Given the description of an element on the screen output the (x, y) to click on. 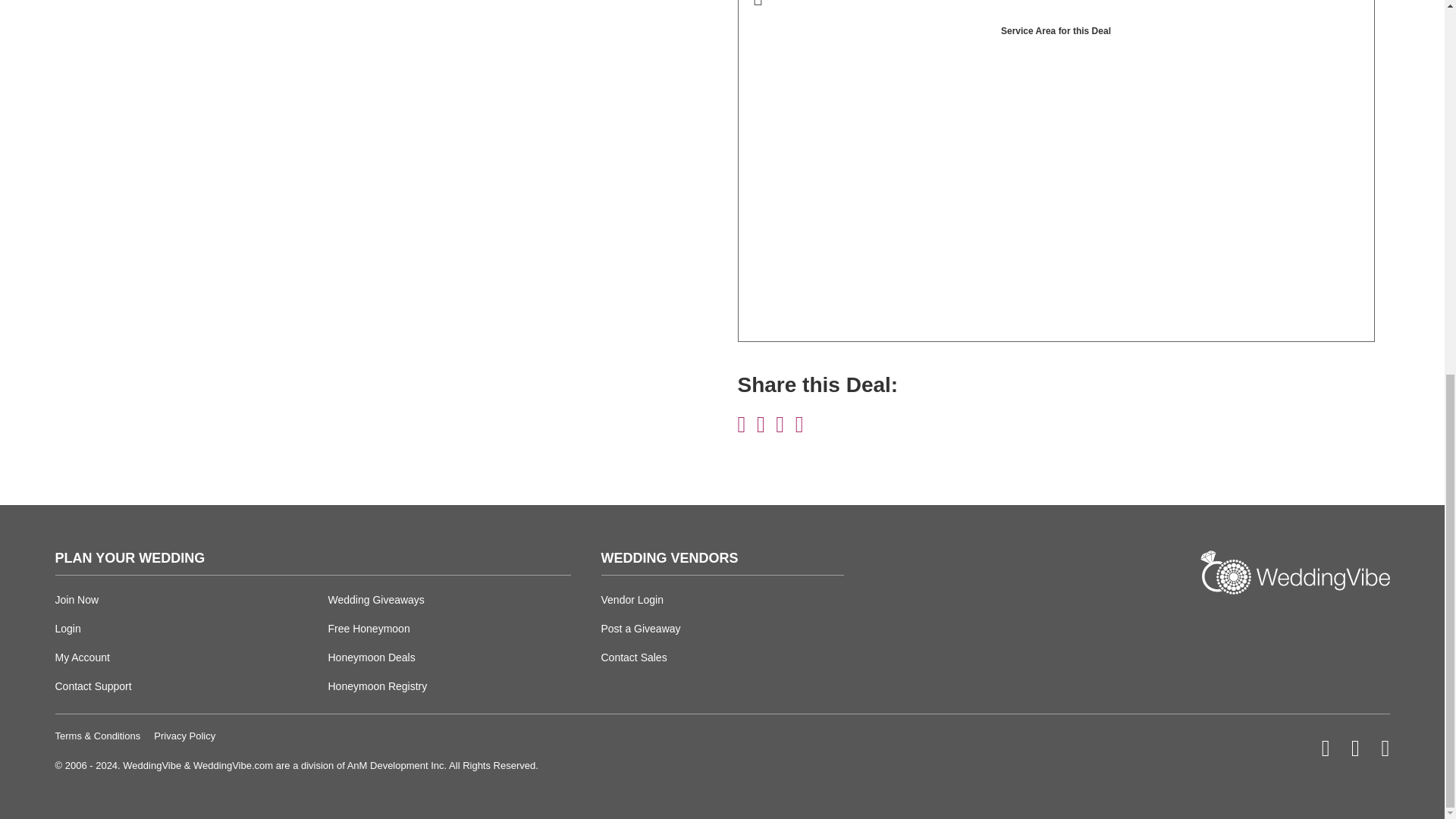
VibeGetaways-logo (1294, 628)
WeddingVibe-logo-magenta (1294, 572)
